Given the description of an element on the screen output the (x, y) to click on. 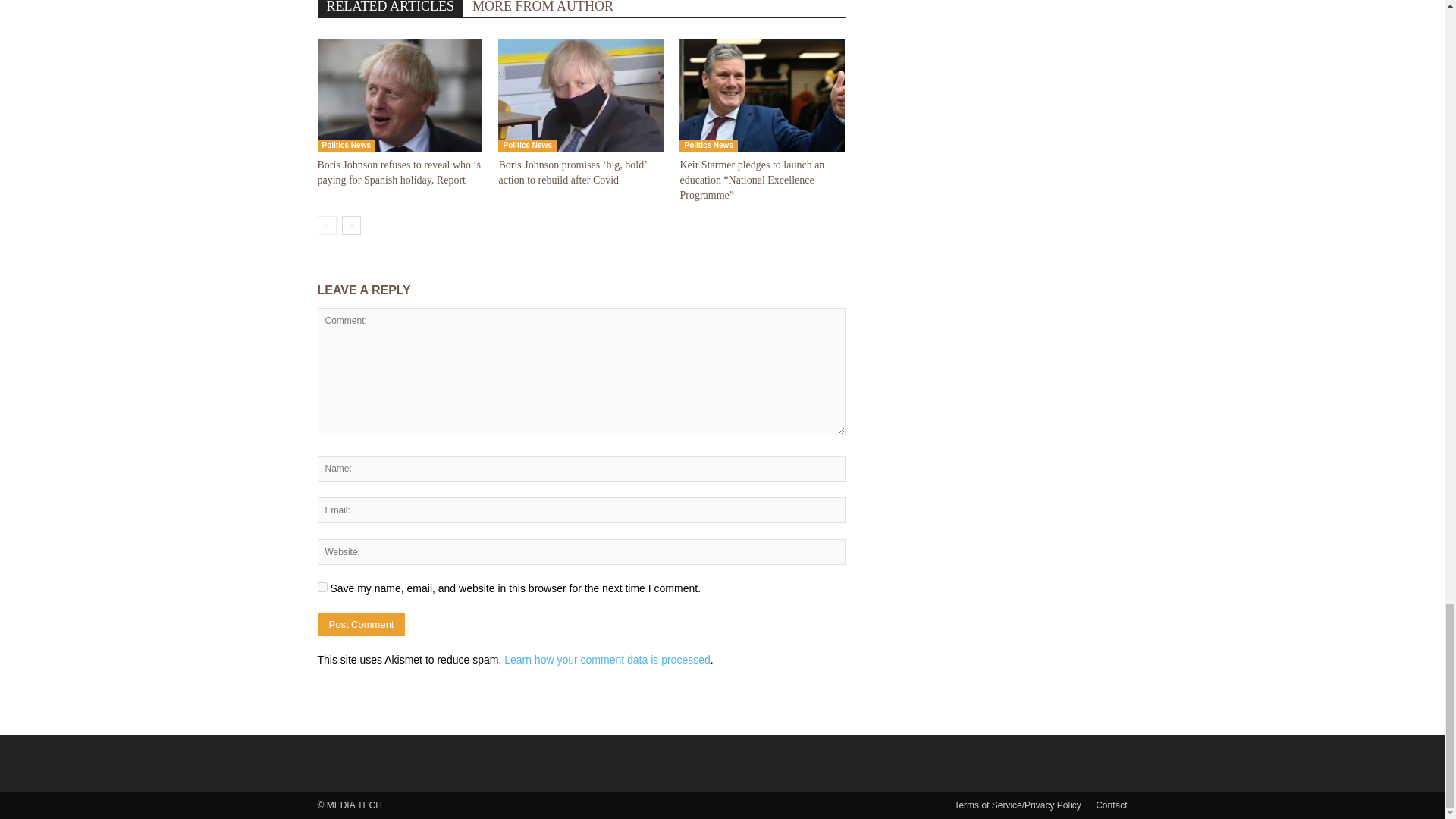
yes (321, 587)
RELATED ARTICLES (390, 8)
Post Comment (360, 624)
